Given the description of an element on the screen output the (x, y) to click on. 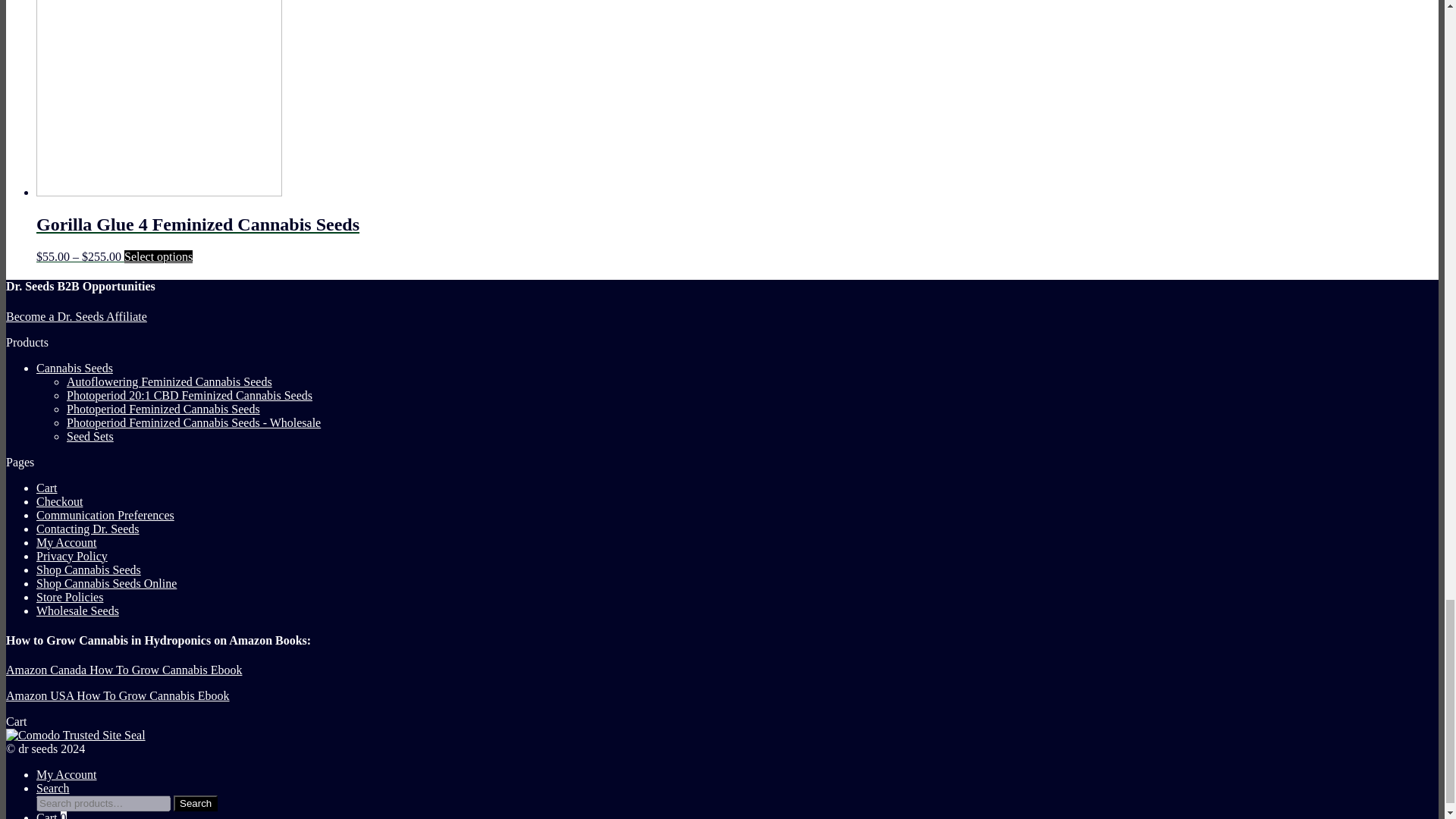
Become a Dr. Seeds Affiliate (76, 316)
Cannabis Seeds (74, 367)
Select options (157, 256)
